Given the description of an element on the screen output the (x, y) to click on. 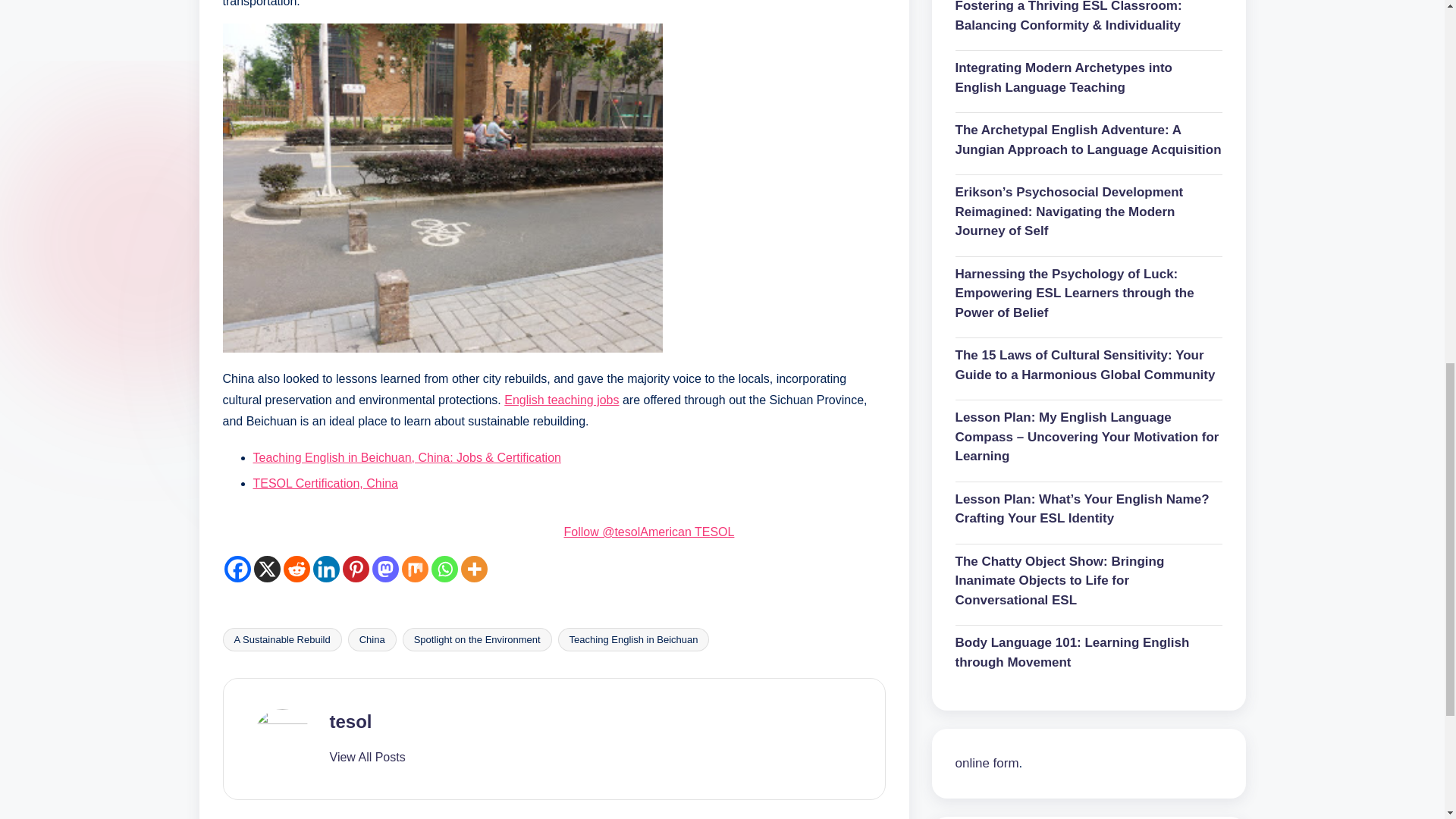
TESOL Certification, China (325, 482)
Mastodon (384, 569)
Facebook (237, 569)
TESOL Certification for Teaching in Beichuan, China (325, 482)
China (371, 639)
English teaching jobs (560, 399)
Reddit (296, 569)
Teaching English in Beichuan (633, 639)
X (266, 569)
A Sustainable Rebuild (282, 639)
